Given the description of an element on the screen output the (x, y) to click on. 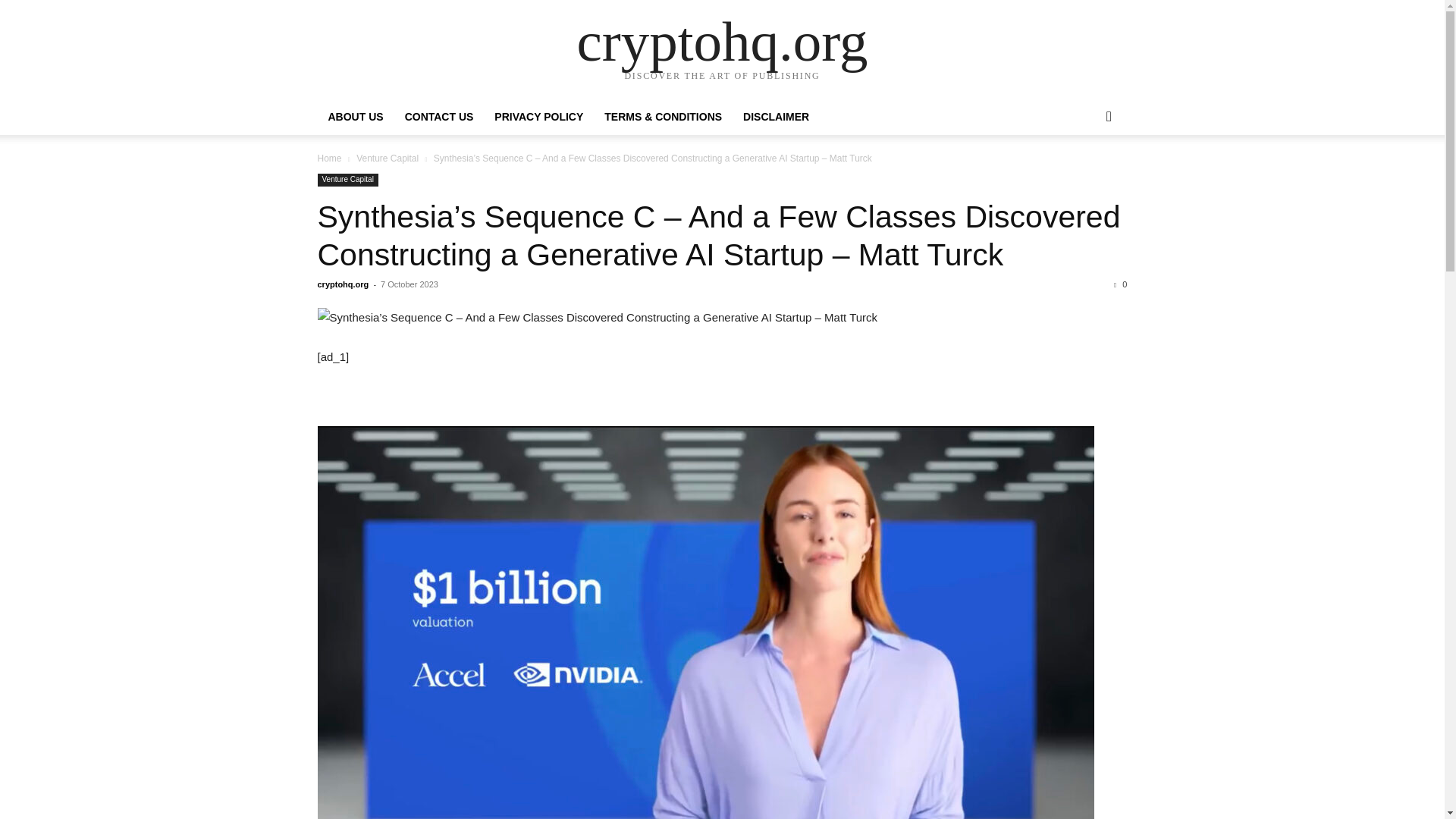
Search (1085, 177)
PRIVACY POLICY (538, 116)
0 (1119, 284)
cryptohq.org (342, 284)
Venture Capital (347, 179)
ABOUT US (355, 116)
CONTACT US (439, 116)
Home (328, 158)
View all posts in Venture Capital (387, 158)
cryptohq.org (721, 41)
